Given the description of an element on the screen output the (x, y) to click on. 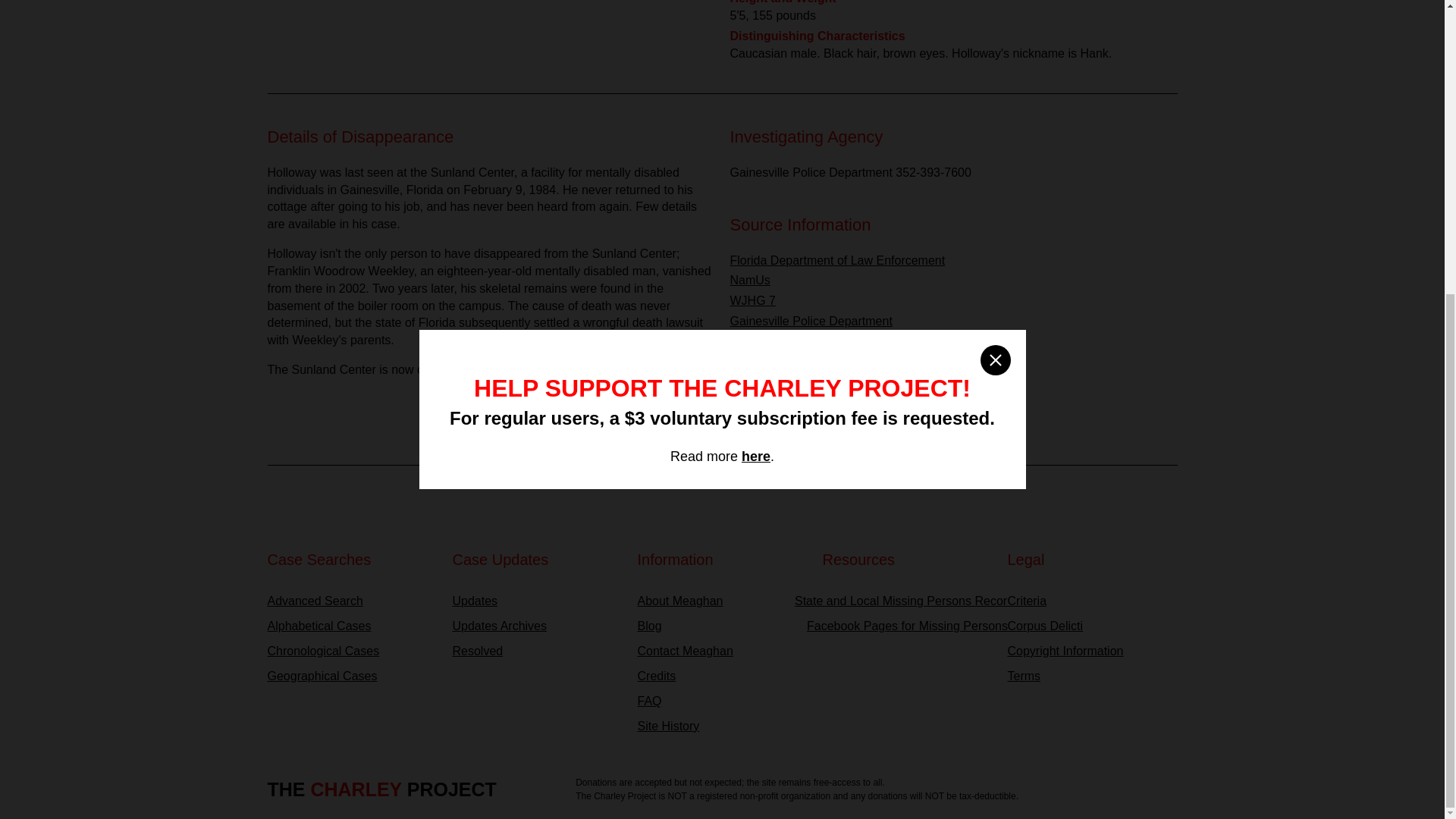
NamUs (749, 279)
Gainesville Police Department (810, 320)
Geographical Cases (351, 676)
WJHG 7 (751, 300)
Resolved (536, 651)
Alphabetical Cases (351, 626)
About Meaghan (721, 601)
Updates (536, 601)
Chronological Cases (351, 651)
Florida Department of Law Enforcement (836, 259)
Advanced Search (351, 601)
Contact Meaghan (721, 651)
Updates Archives (536, 626)
Blog (721, 626)
